Given the description of an element on the screen output the (x, y) to click on. 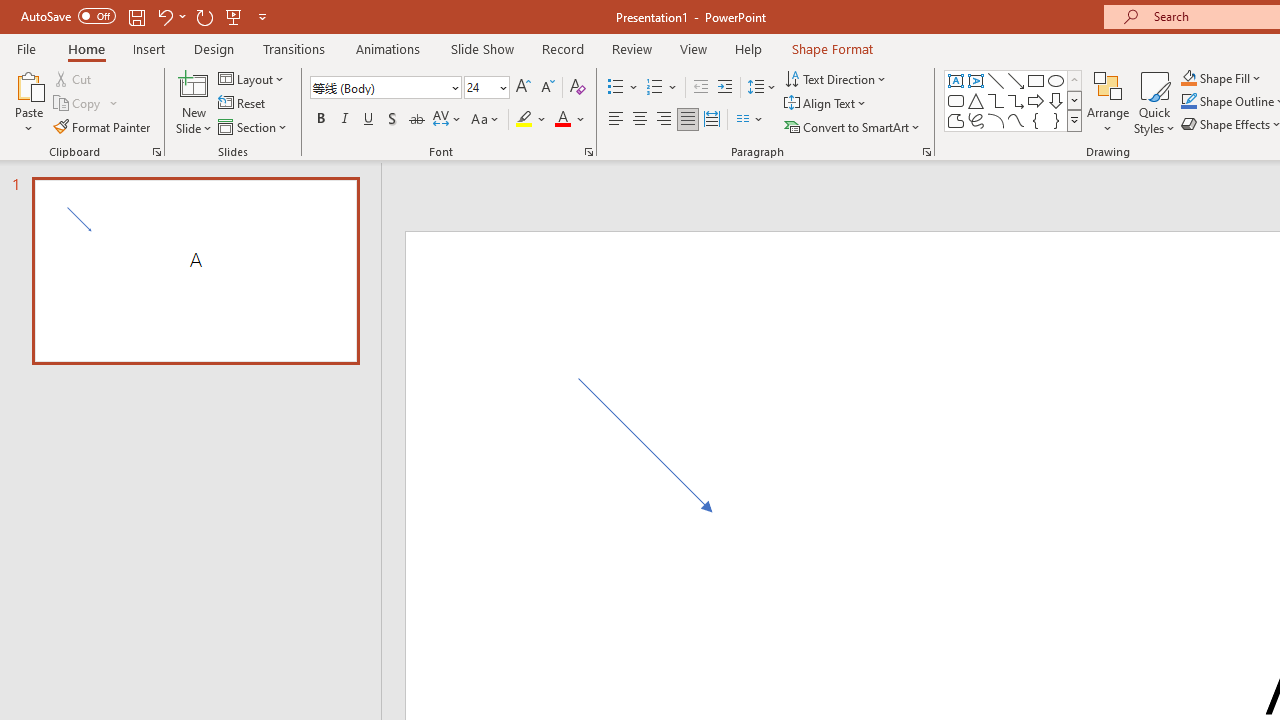
Shape Fill Orange, Accent 2 (1188, 78)
